Given the description of an element on the screen output the (x, y) to click on. 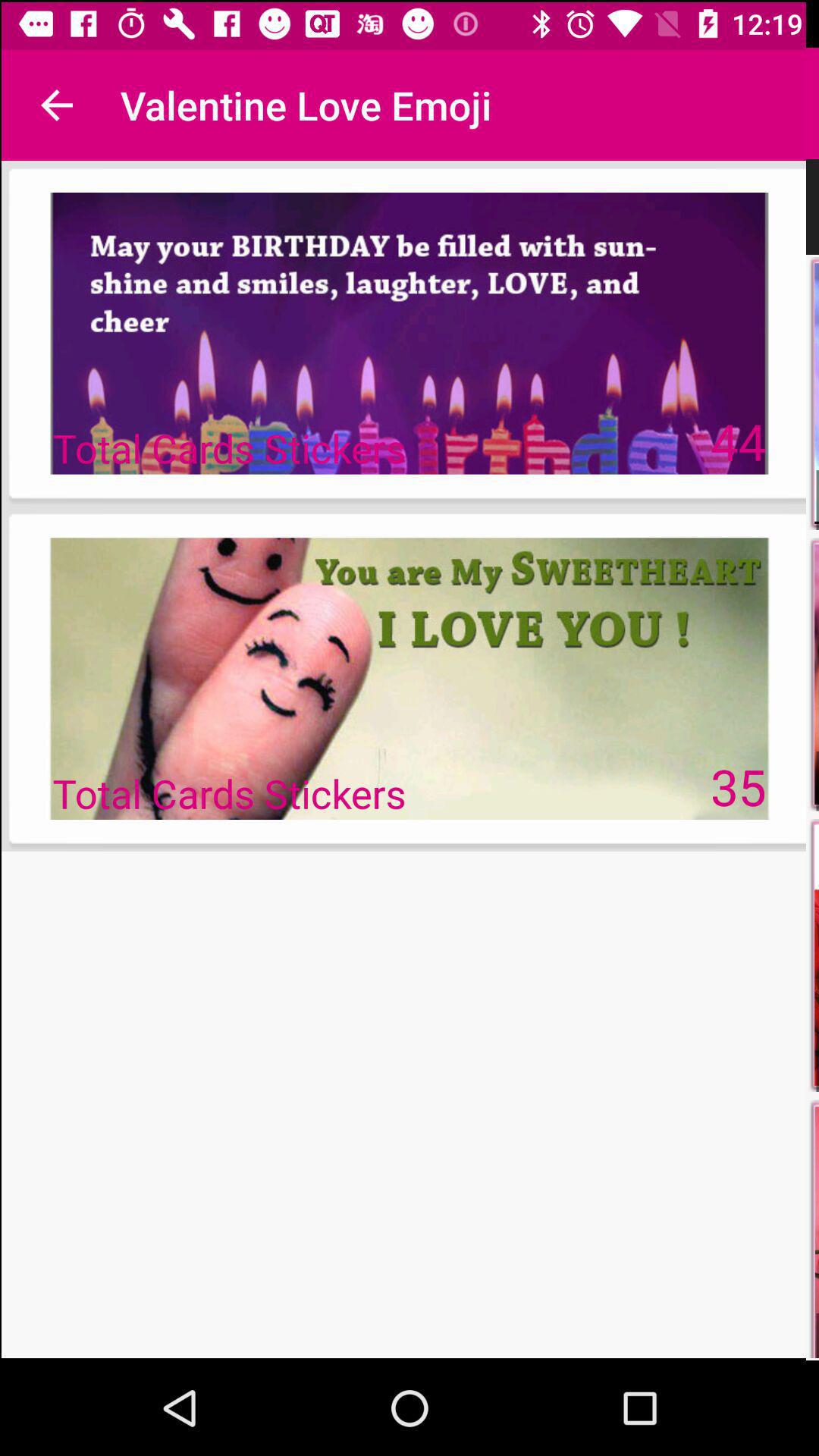
tap the item at the top right corner (739, 440)
